Given the description of an element on the screen output the (x, y) to click on. 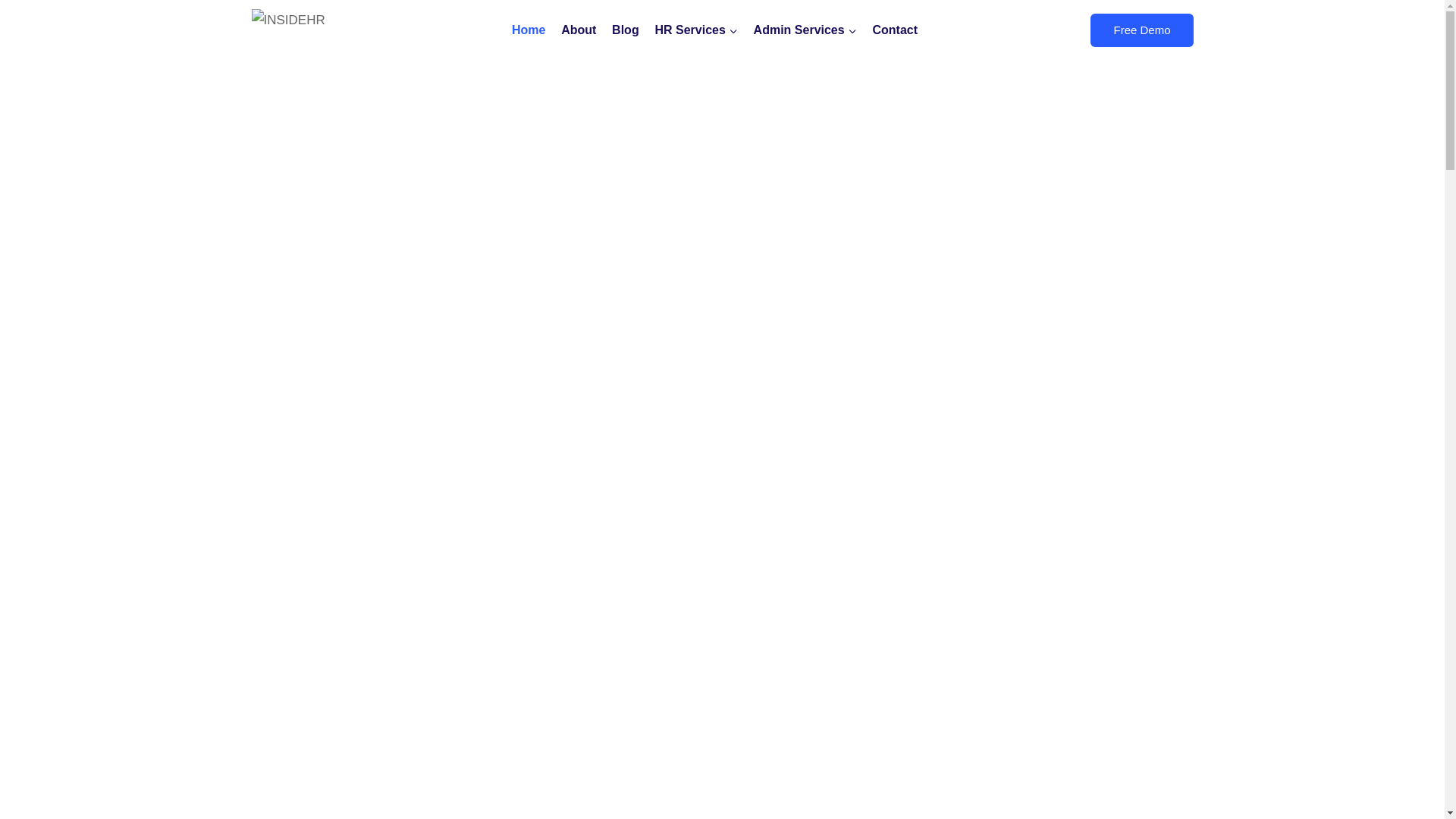
Contact Element type: text (894, 29)
Free Demo Element type: text (1141, 30)
HR Services Element type: text (695, 29)
Home Element type: text (527, 29)
Blog Element type: text (625, 29)
Admin Services Element type: text (804, 29)
About Element type: text (578, 29)
